Given the description of an element on the screen output the (x, y) to click on. 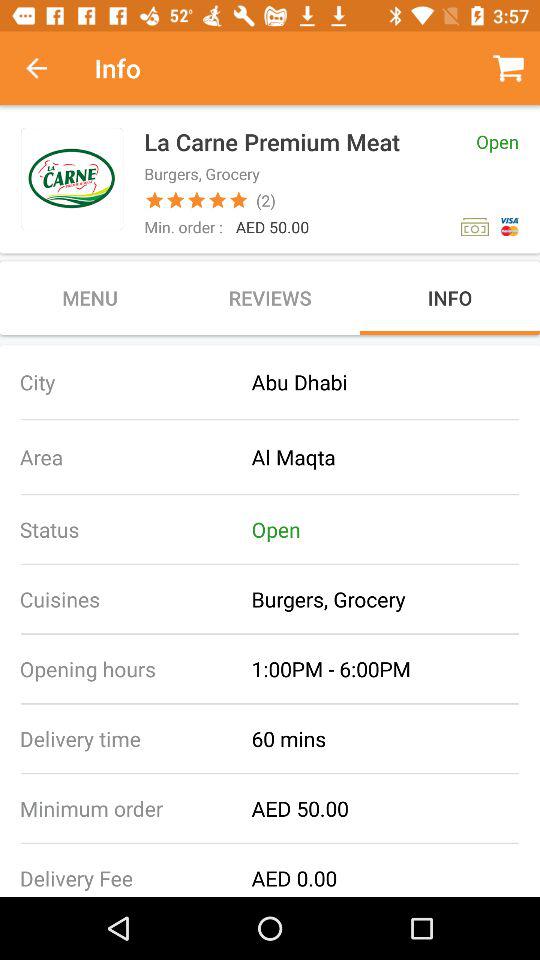
return to previous (47, 68)
